Given the description of an element on the screen output the (x, y) to click on. 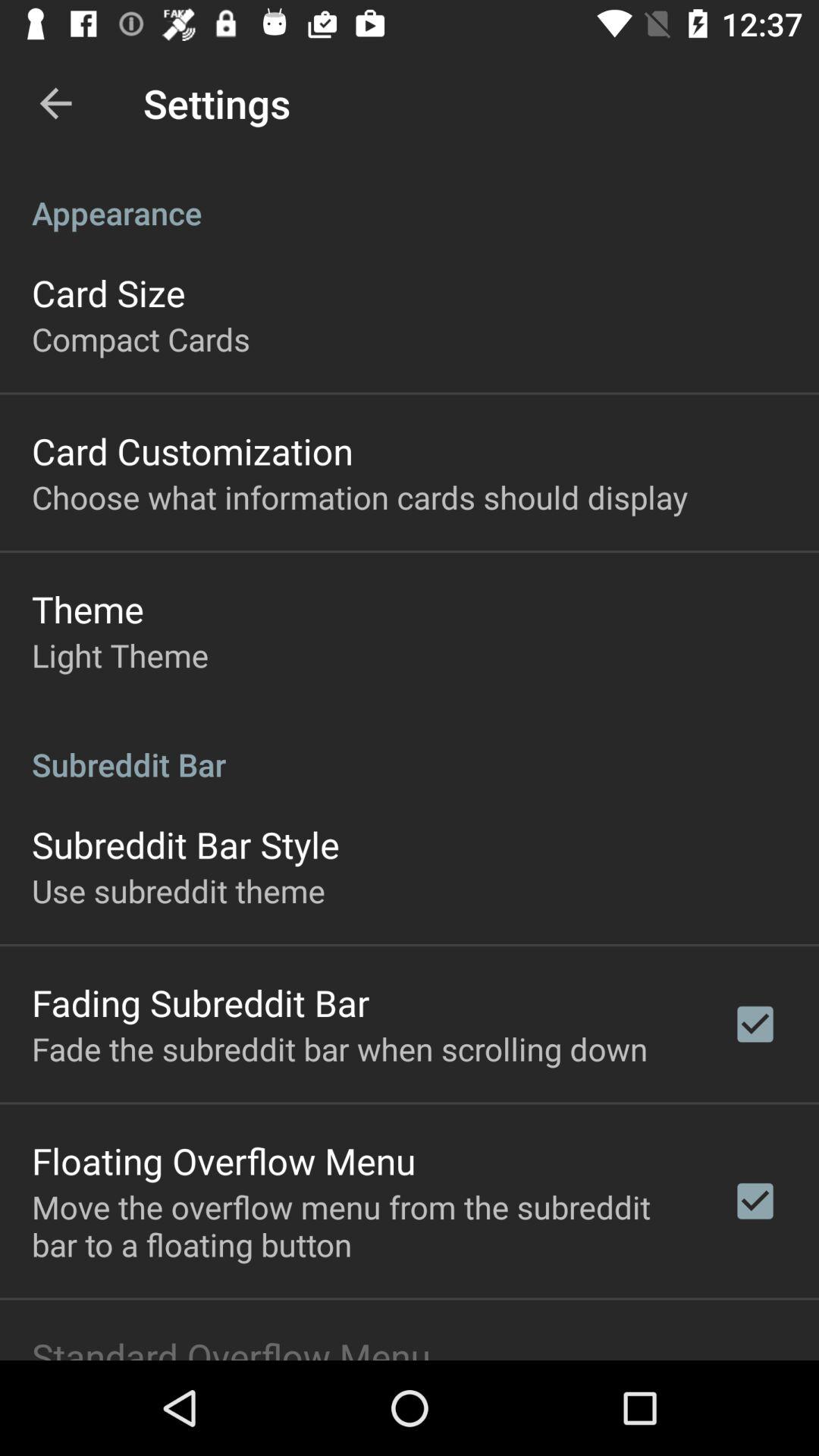
click the app above the card size item (409, 196)
